Given the description of an element on the screen output the (x, y) to click on. 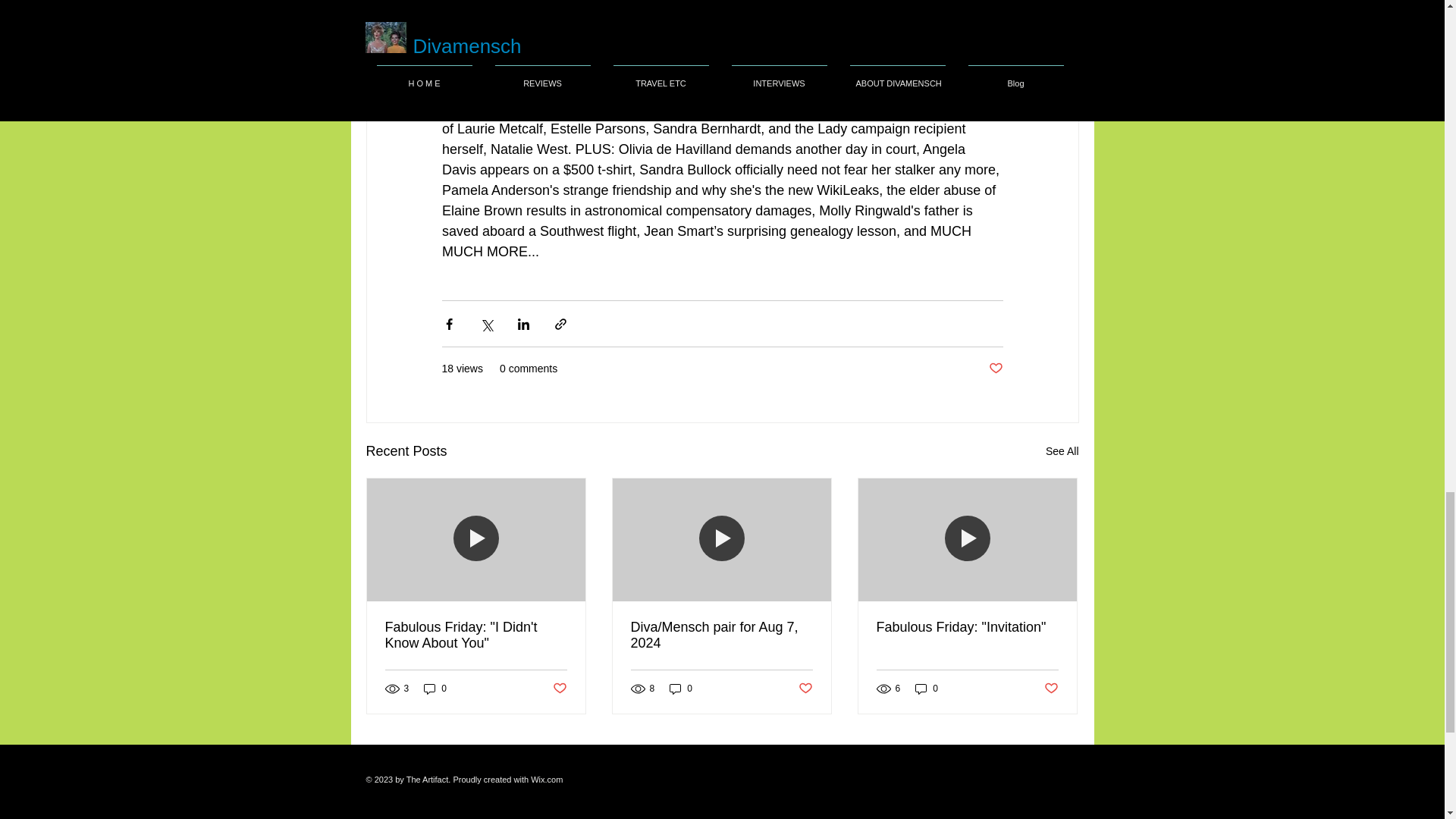
0 (435, 688)
Post not marked as liked (995, 368)
Fabulous Friday: "I Didn't Know About You" (476, 635)
Post not marked as liked (804, 688)
Post not marked as liked (558, 688)
See All (1061, 451)
0 (681, 688)
Fabulous Friday: "Invitation" (967, 627)
